Given the description of an element on the screen output the (x, y) to click on. 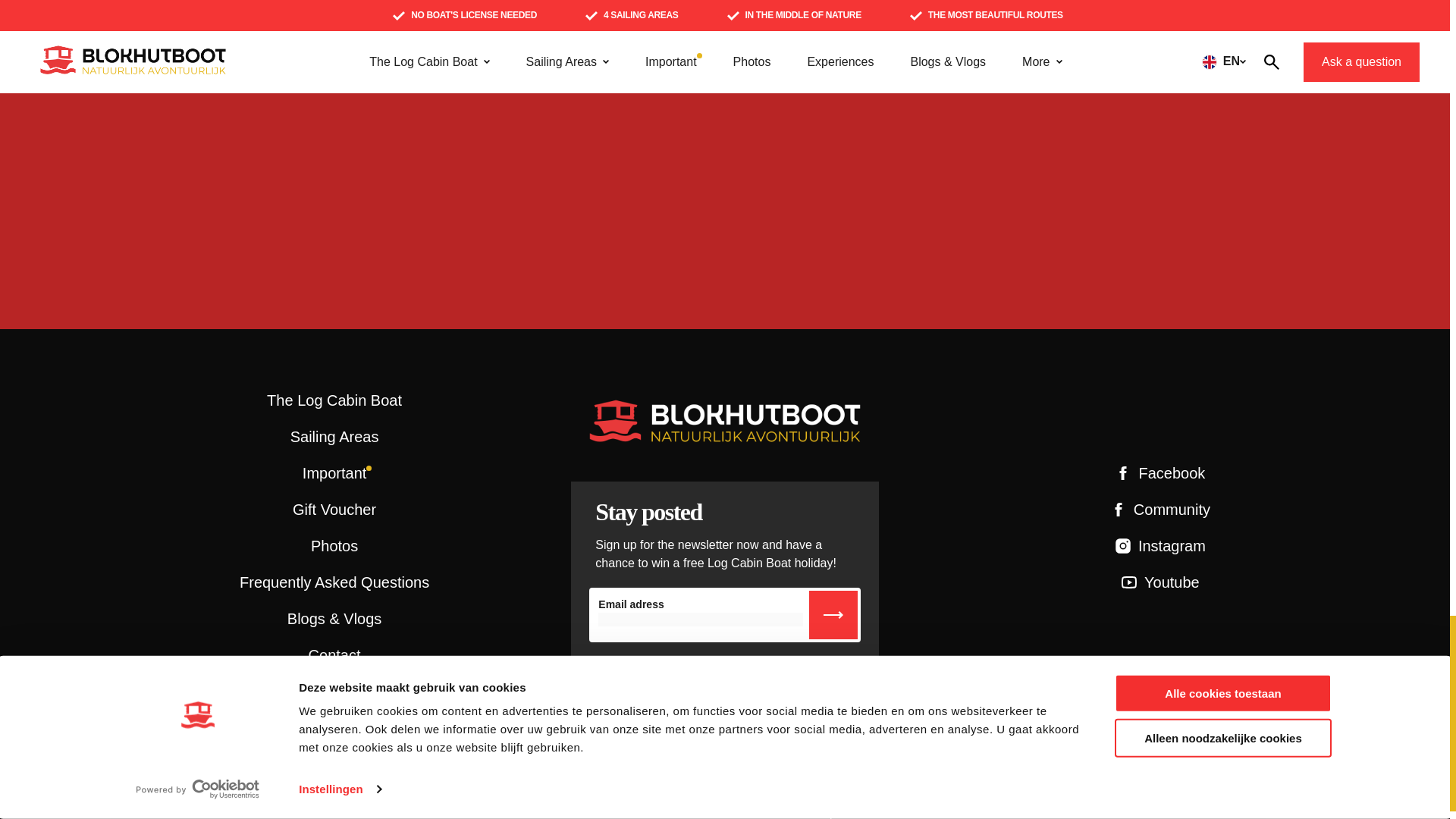
h (833, 614)
Search (1068, 43)
